Given the description of an element on the screen output the (x, y) to click on. 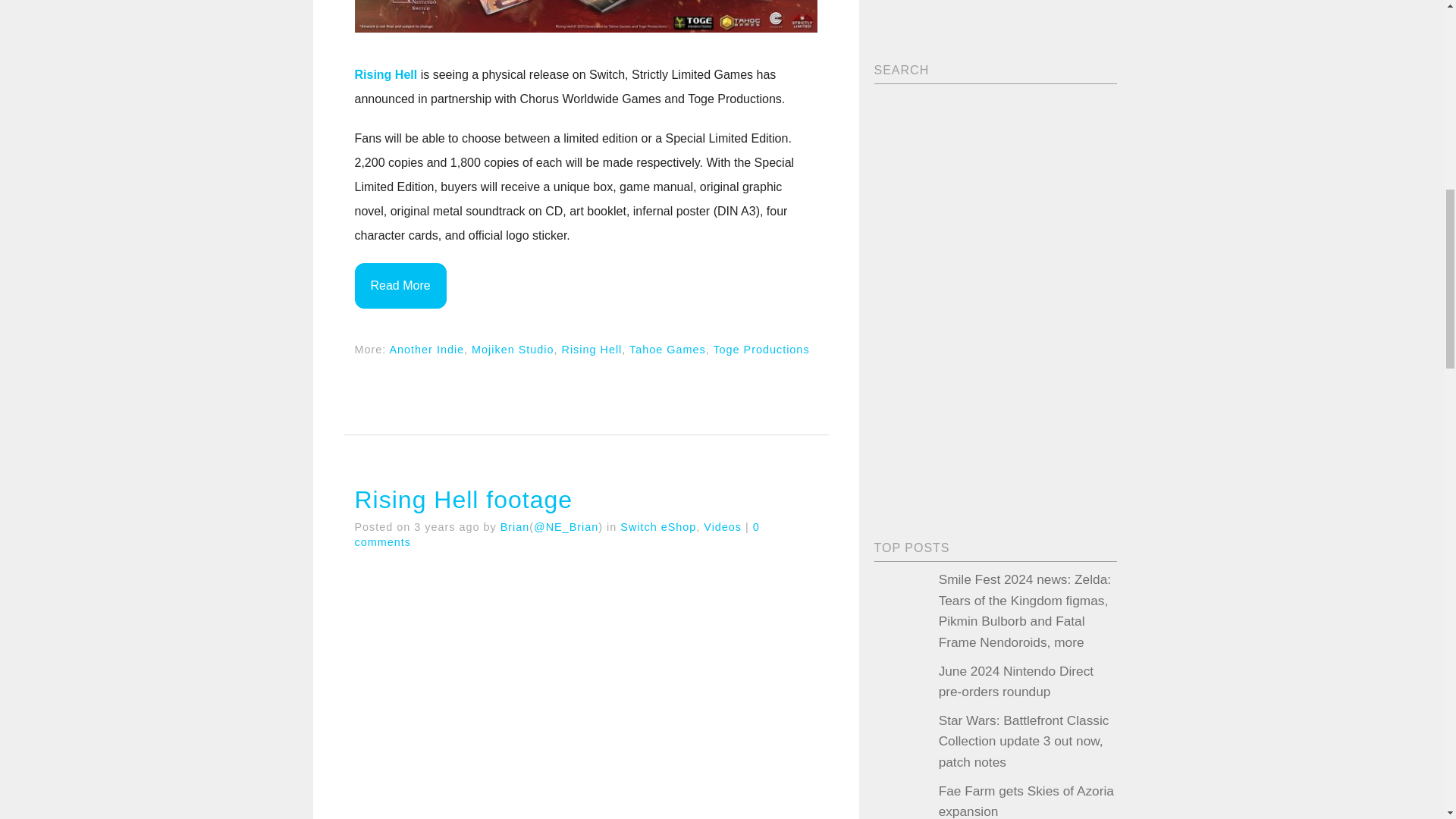
Fae Farm gets Skies of Azoria expansion (1026, 800)
Posts by Brian (514, 526)
Mojiken Studio (512, 349)
Read More (400, 285)
Another Indie (427, 349)
June 2024 Nintendo Direct pre-orders roundup (1016, 681)
Rising Hell (386, 74)
Read More (400, 285)
Rising Hell (590, 349)
